Given the description of an element on the screen output the (x, y) to click on. 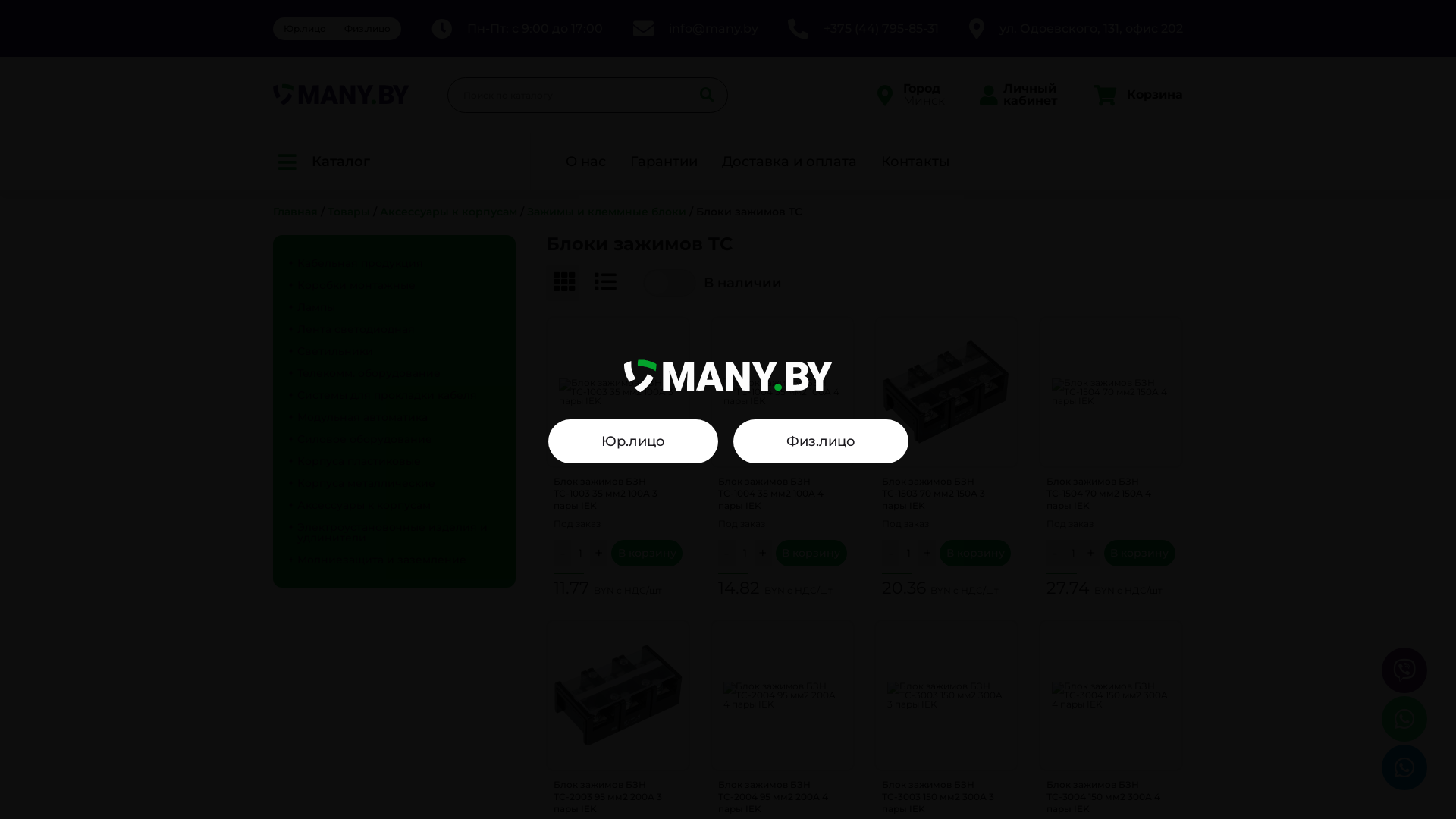
info@many.by Element type: text (694, 28)
image2vector Element type: text (341, 94)
+375 (44) 795-85-31 Element type: text (862, 28)
